Given the description of an element on the screen output the (x, y) to click on. 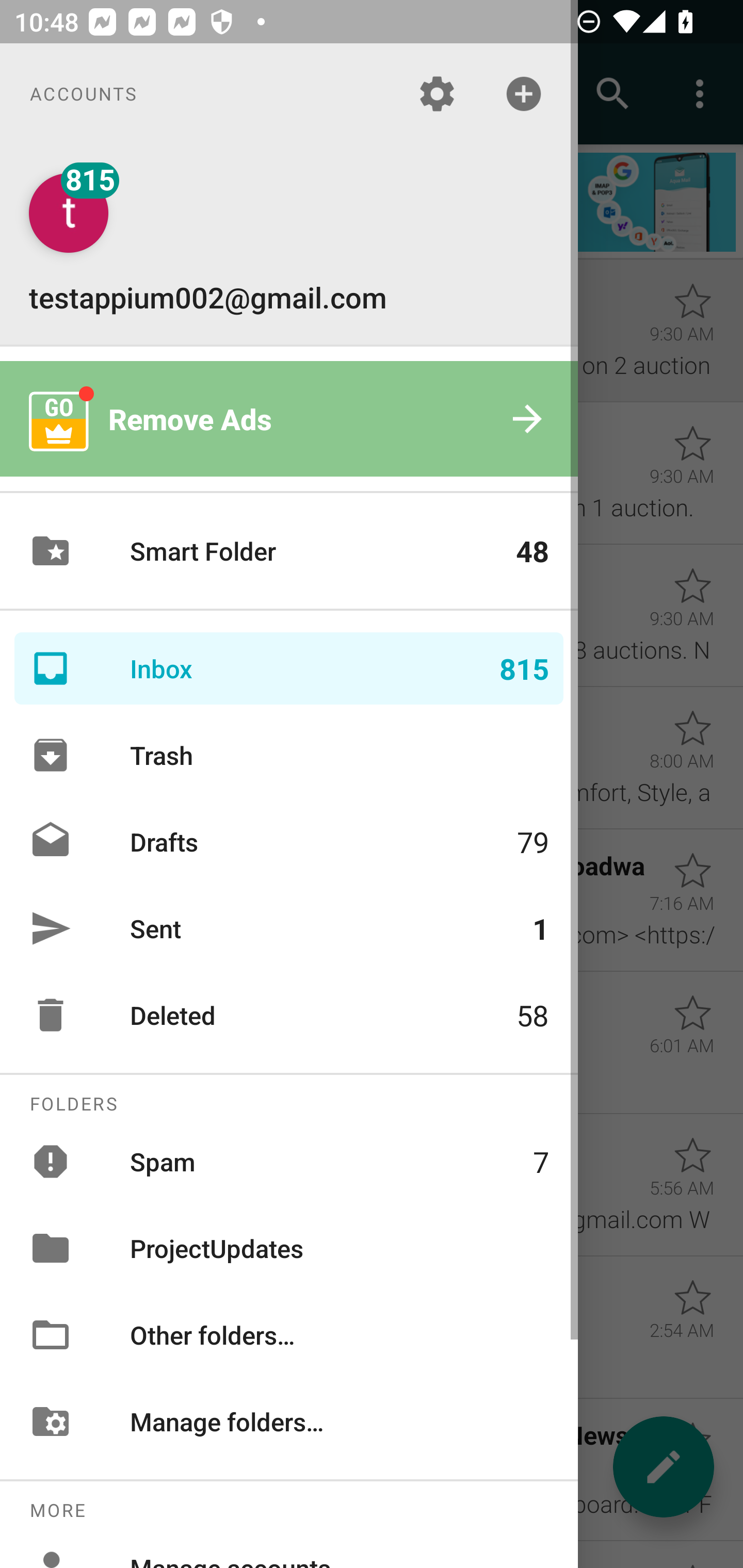
testappium002@gmail.com (289, 244)
Remove Ads (289, 418)
Smart Folder 48 (289, 551)
Inbox 815 (289, 668)
Trash (289, 754)
Drafts 79 (289, 841)
Sent 1 (289, 928)
Deleted 58 (289, 1015)
Spam 7 (289, 1160)
ProjectUpdates (289, 1248)
Other folders… (289, 1335)
Manage folders… (289, 1421)
